Given the description of an element on the screen output the (x, y) to click on. 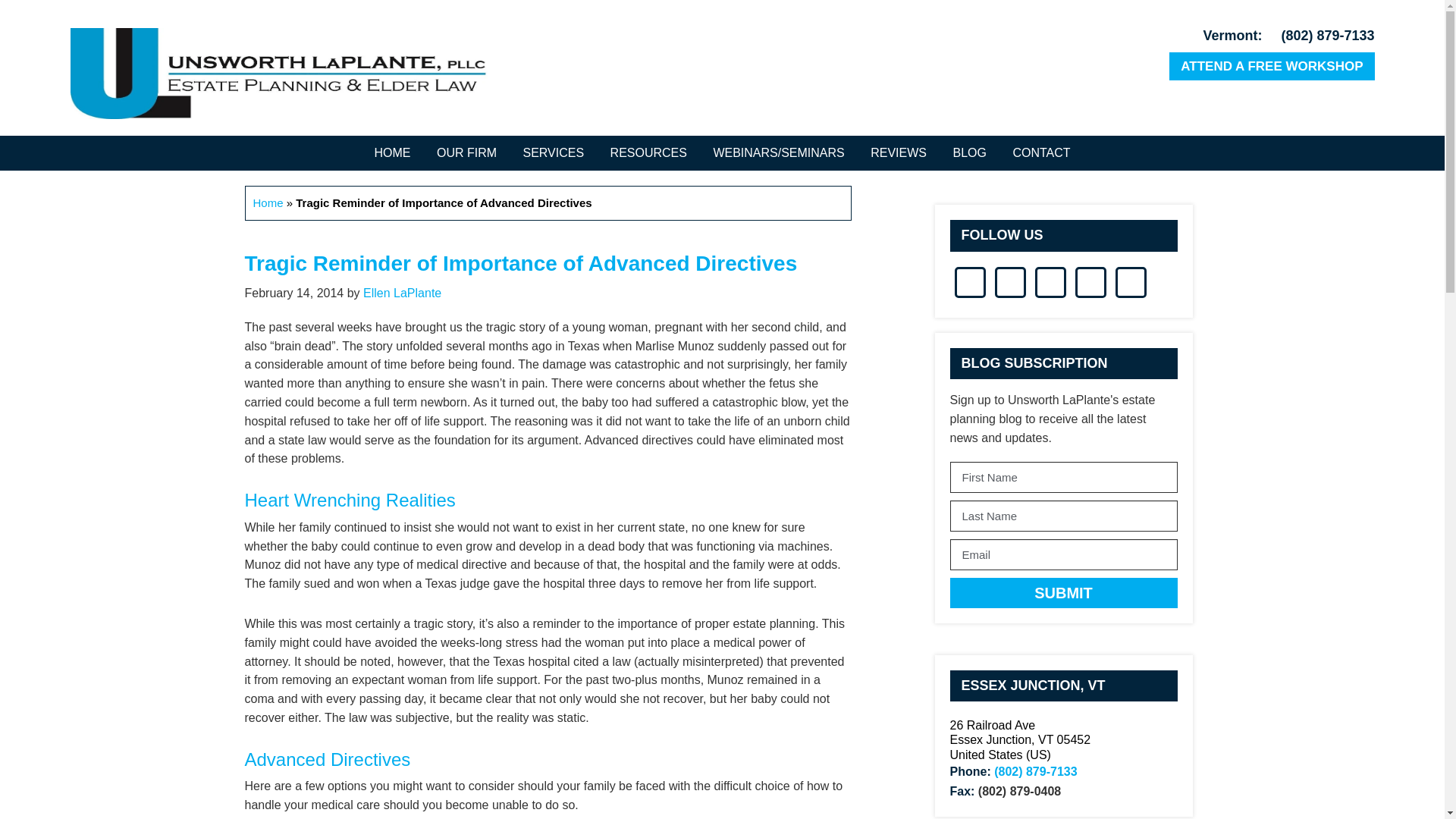
SERVICES (553, 152)
Vermont Estate Planning Blog (968, 152)
Unsworth LaPlante, PLLC (277, 72)
Submit (1062, 593)
HOME (392, 152)
ATTEND A FREE WORKSHOP (1271, 66)
RESOURCES (648, 152)
OUR FIRM (466, 152)
